Given the description of an element on the screen output the (x, y) to click on. 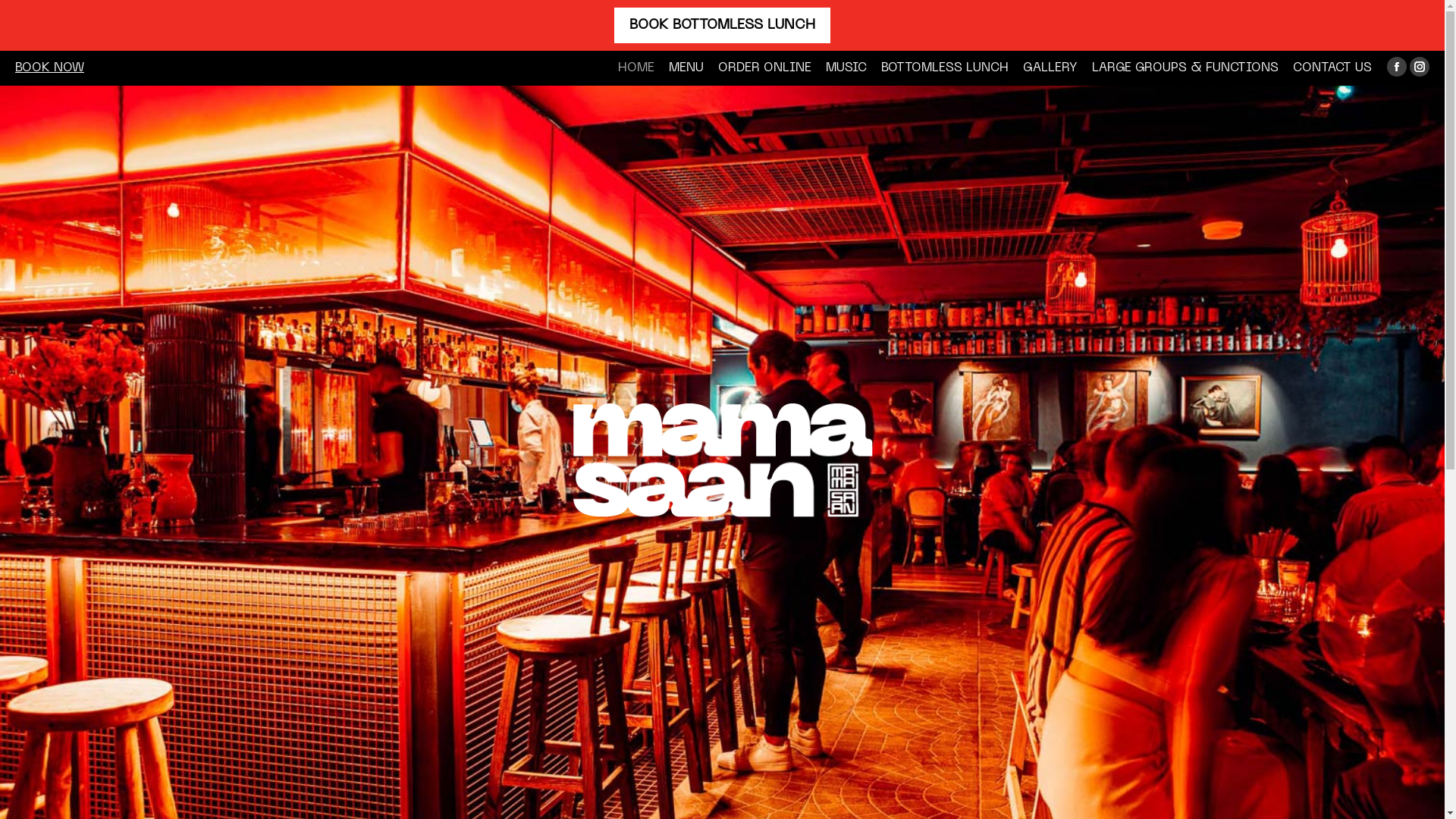
LARGE GROUPS & FUNCTIONS Element type: text (1185, 67)
Facebook page opens in new window Element type: text (1396, 66)
MUSIC Element type: text (845, 67)
BOOK BOTTOMLESS LUNCH Element type: text (722, 25)
ORDER ONLINE Element type: text (764, 67)
GALLERY Element type: text (1049, 67)
Instagram page opens in new window Element type: text (1419, 66)
BOOK NOW Element type: text (49, 68)
CONTACT US Element type: text (1331, 67)
MENU Element type: text (685, 67)
HOME Element type: text (636, 67)
BOTTOMLESS LUNCH Element type: text (944, 67)
